Given the description of an element on the screen output the (x, y) to click on. 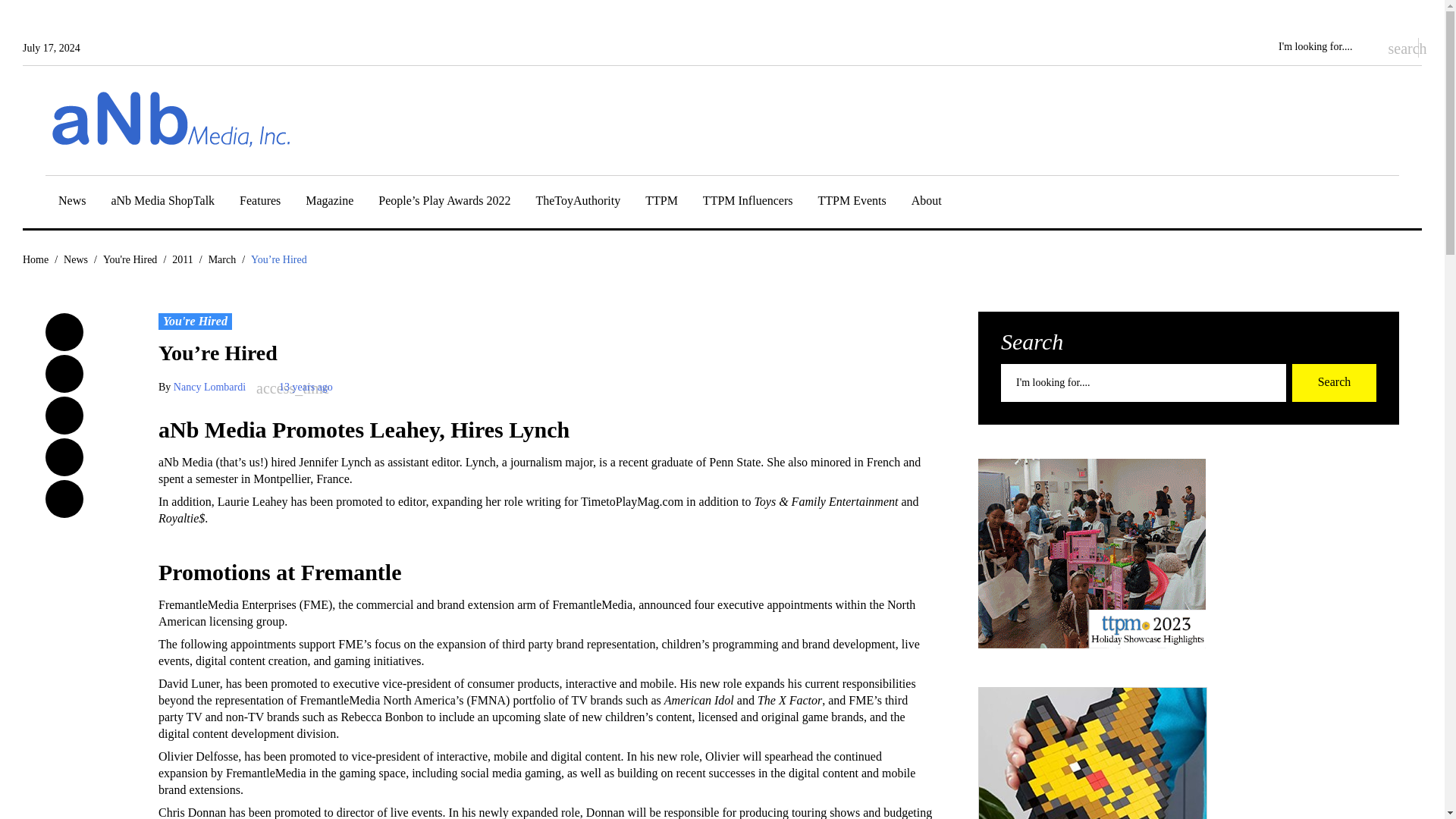
TTPM Influencers (748, 203)
About (926, 203)
TTPM Events (852, 203)
aNb Media ShopTalk (162, 203)
Features (260, 203)
TheToyAuthority (577, 203)
News (72, 203)
TTPM (660, 203)
Magazine (329, 203)
Features (260, 203)
aNb Media ShopTalk (162, 203)
Search for: (1324, 47)
News (72, 203)
search (1395, 46)
